Given the description of an element on the screen output the (x, y) to click on. 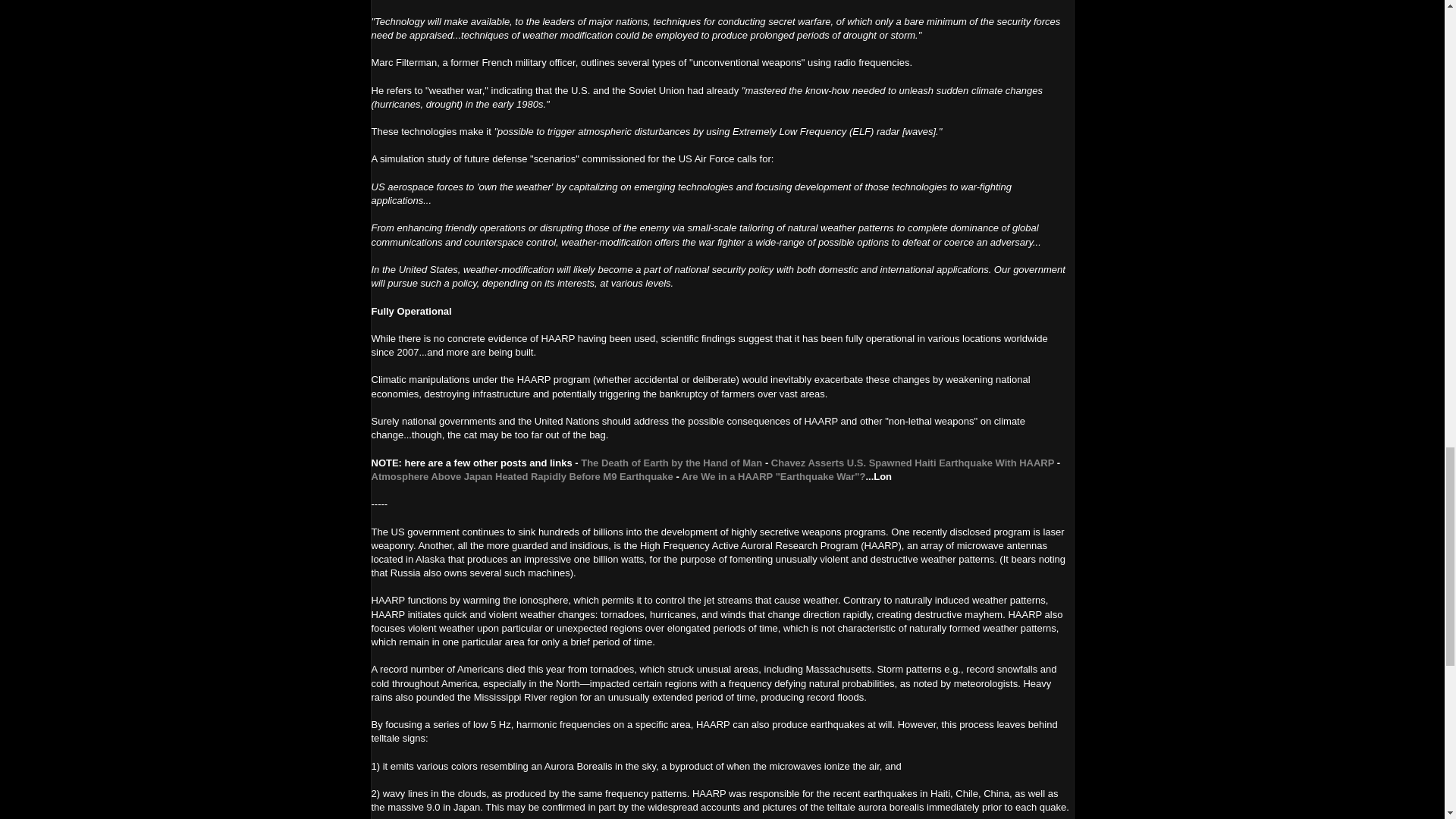
Atmosphere Above Japan Heated Rapidly Before M9 Earthquake (521, 476)
Are We in a HAARP "Earthquake War"? (773, 476)
Chavez Asserts U.S. Spawned Haiti Earthquake With HAARP (912, 462)
The Death of Earth by the Hand of Man (670, 462)
